Given the description of an element on the screen output the (x, y) to click on. 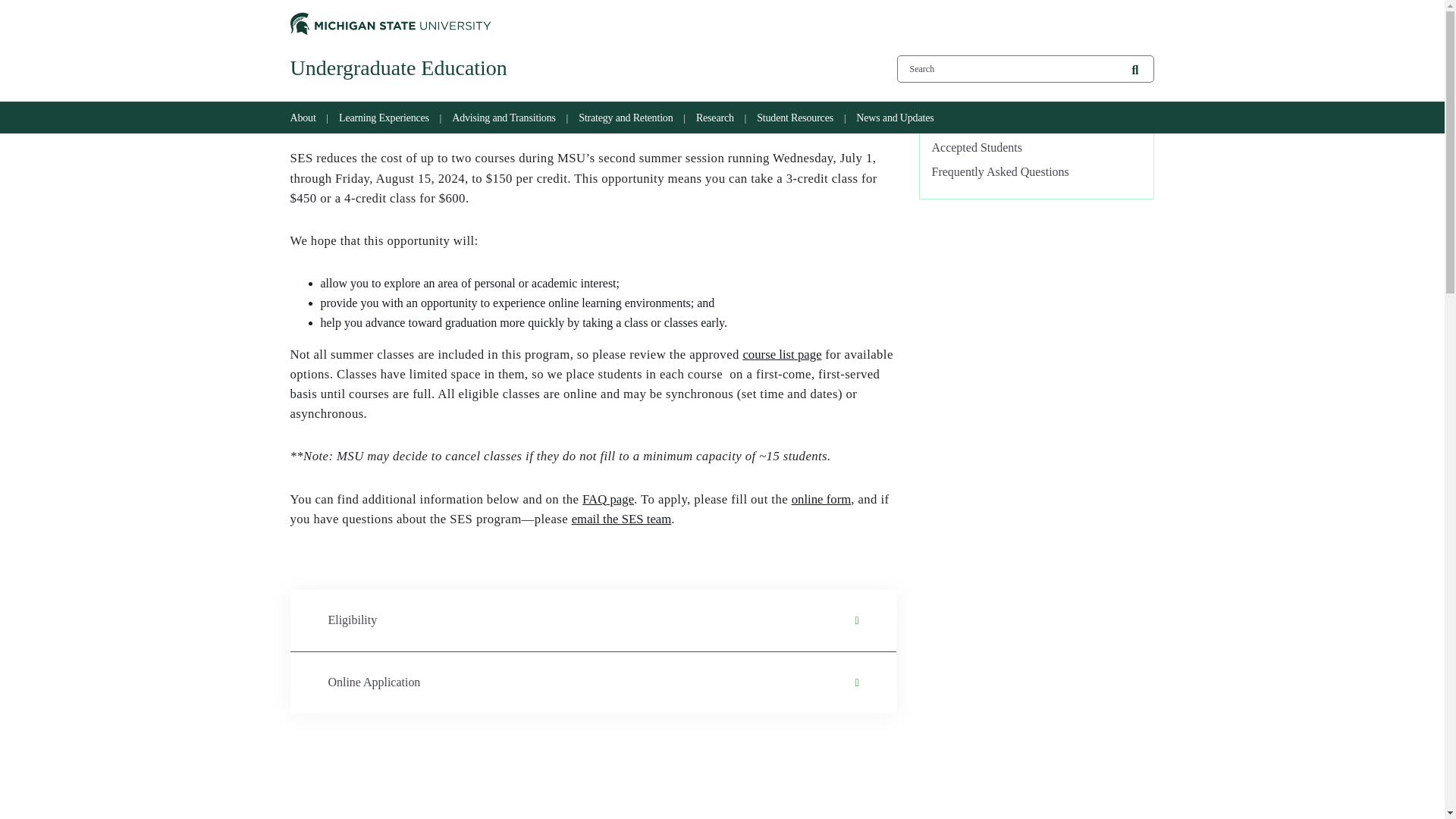
Undergraduate Education (574, 68)
Learning Experiences (385, 118)
Michigan State University (389, 23)
Strategy and Retention (627, 118)
Student Resources (796, 118)
Research (717, 118)
Advising and Transitions (505, 118)
Michigan State University (389, 21)
About (306, 118)
